Given the description of an element on the screen output the (x, y) to click on. 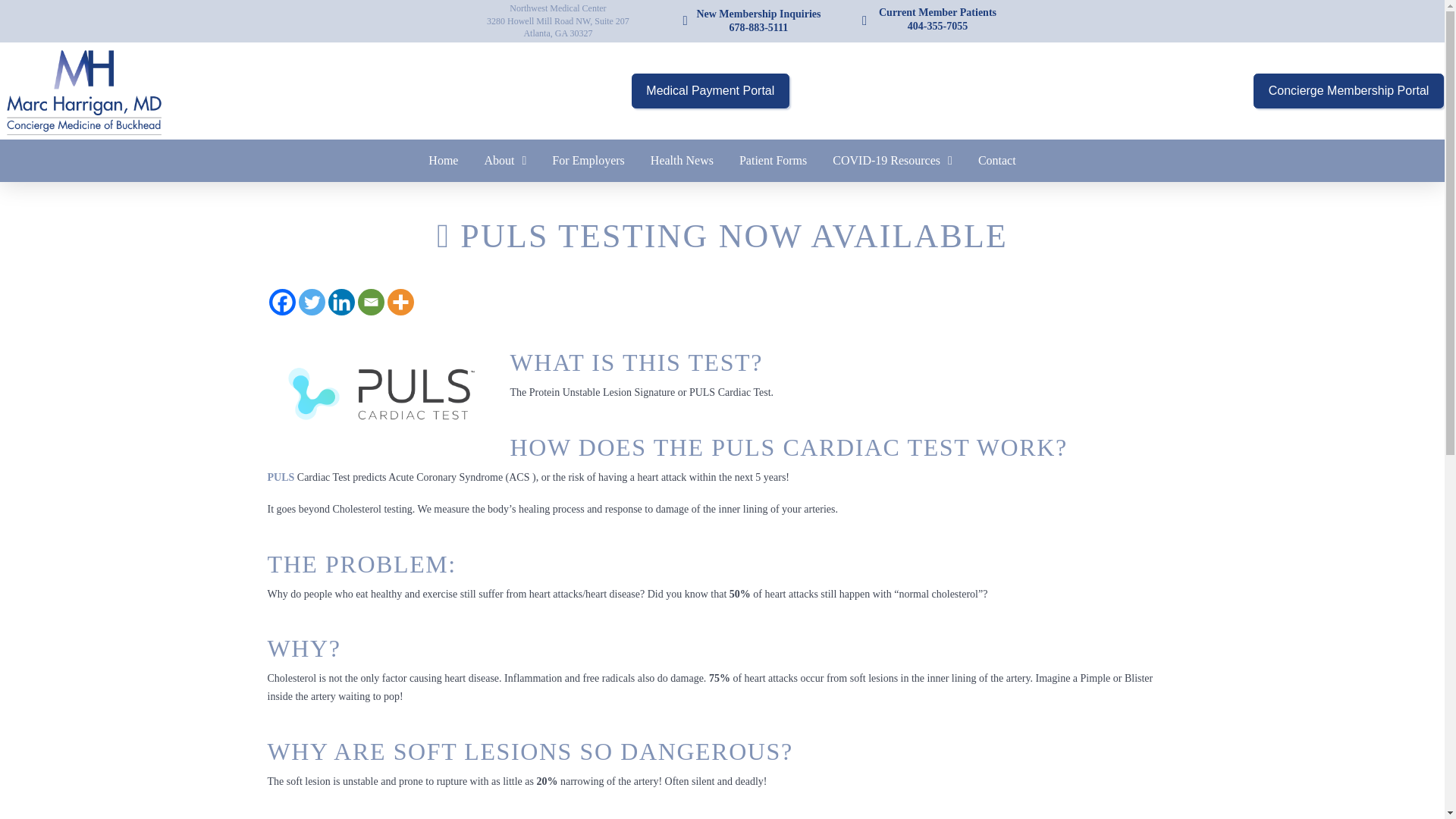
Concierge Membership Portal (751, 20)
COVID-19 Resources (1348, 90)
Contact (892, 160)
PULS (997, 160)
Email (281, 477)
Patient Forms (371, 302)
3280 Howell Mill Road NW, Suite 207 (772, 160)
Health News (557, 20)
Northwest Medical Center (681, 160)
